Given the description of an element on the screen output the (x, y) to click on. 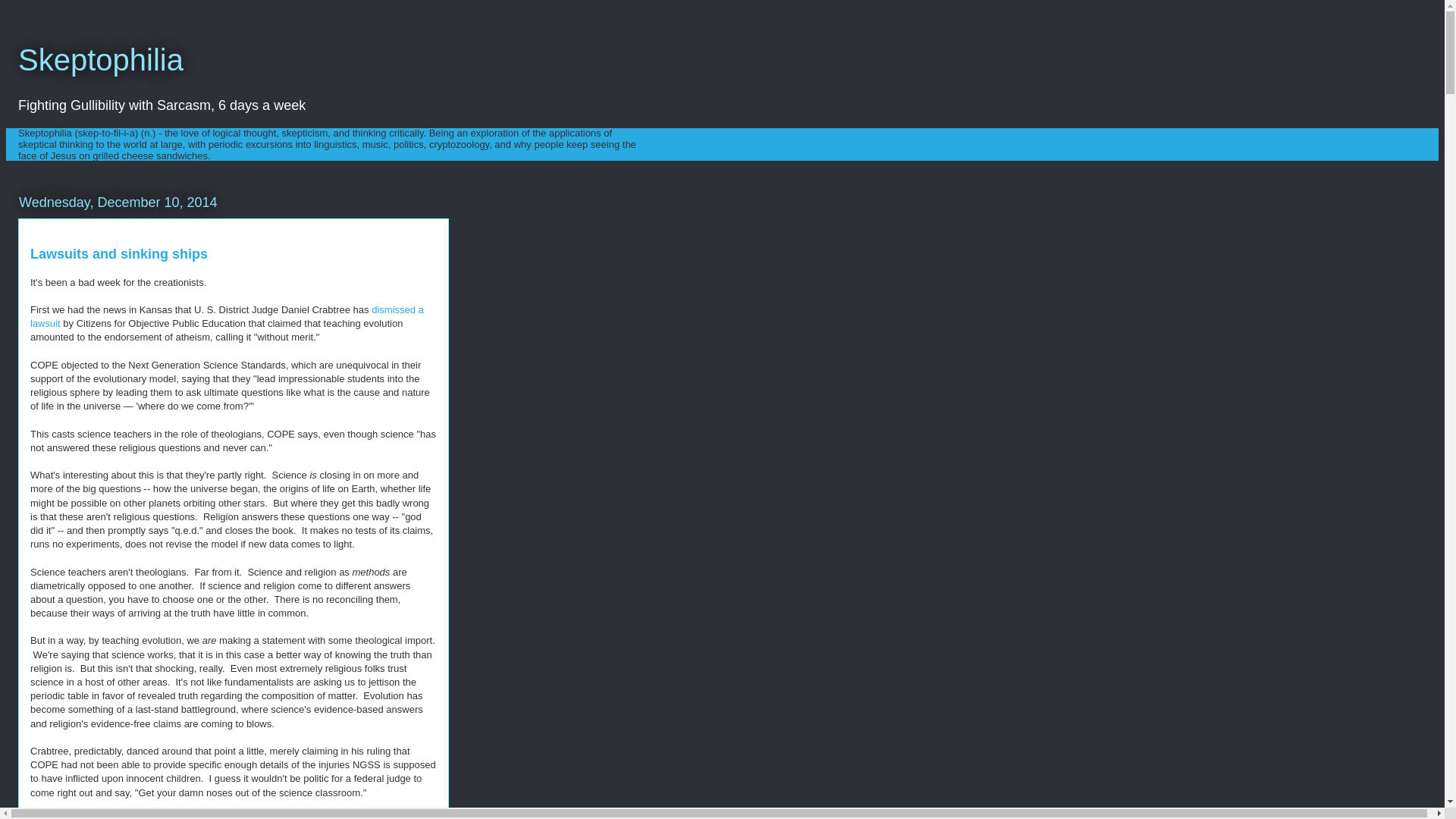
Skeptophilia (100, 59)
dismissed a lawsuit (226, 316)
